Given the description of an element on the screen output the (x, y) to click on. 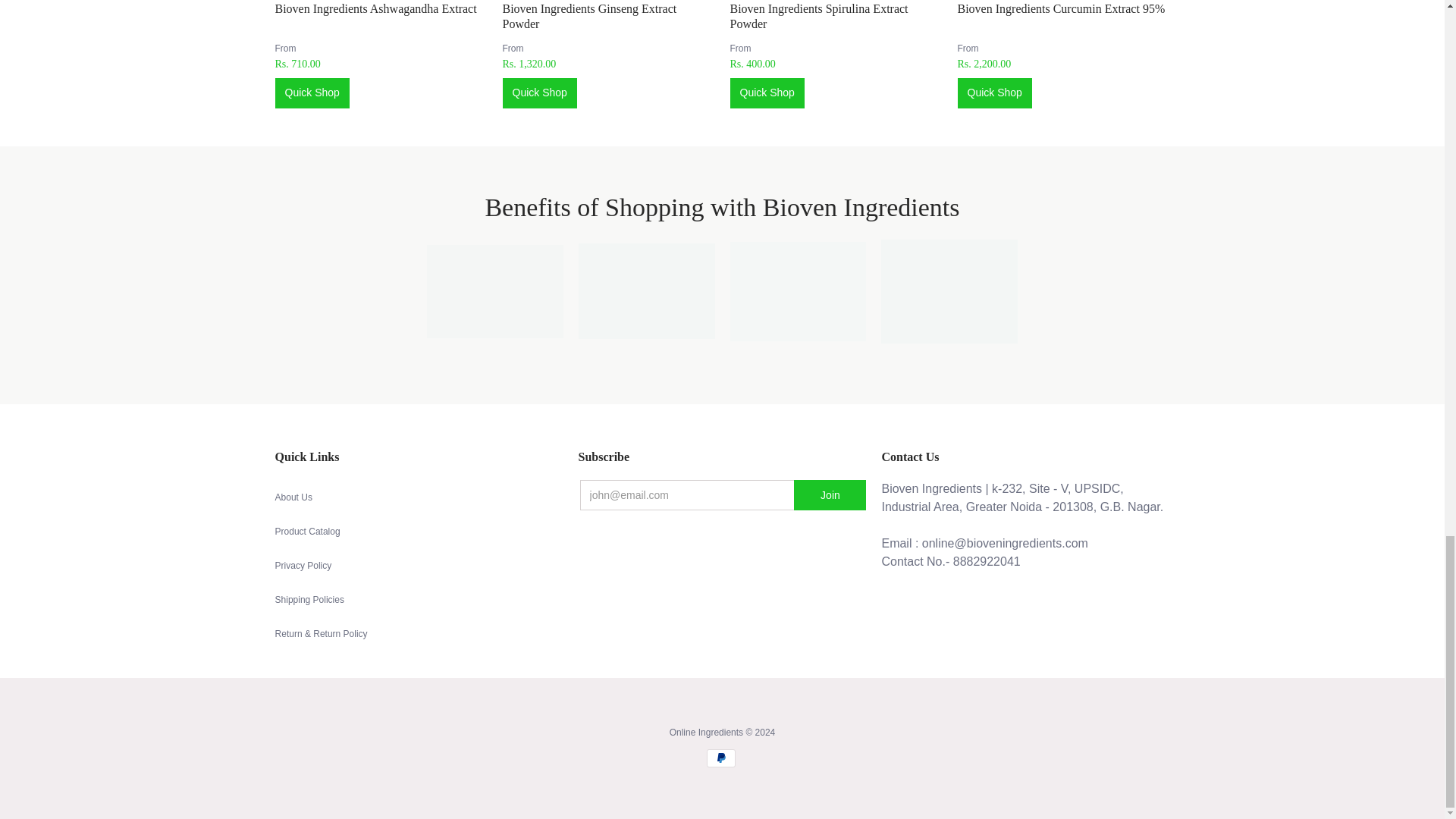
PayPal (720, 758)
Bioven Ingredients Ashwagandha Extract (375, 8)
Join (829, 494)
